Given the description of an element on the screen output the (x, y) to click on. 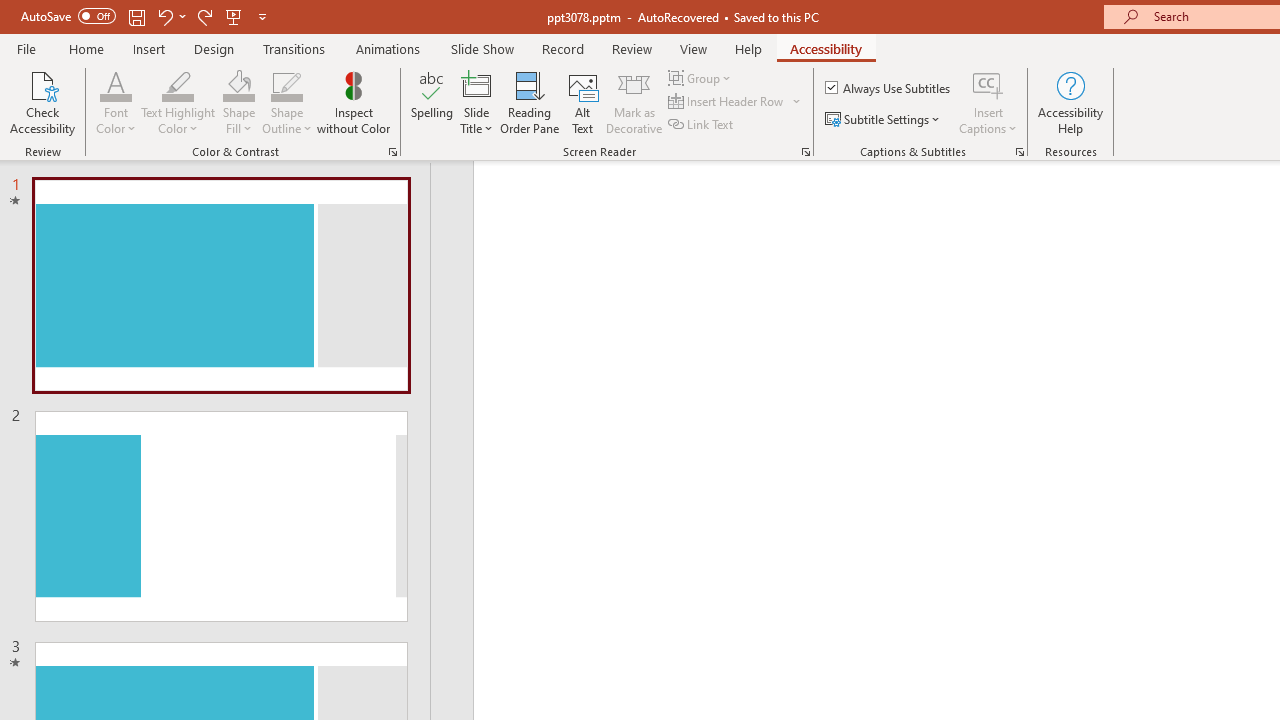
Color & Contrast (392, 151)
